Given the description of an element on the screen output the (x, y) to click on. 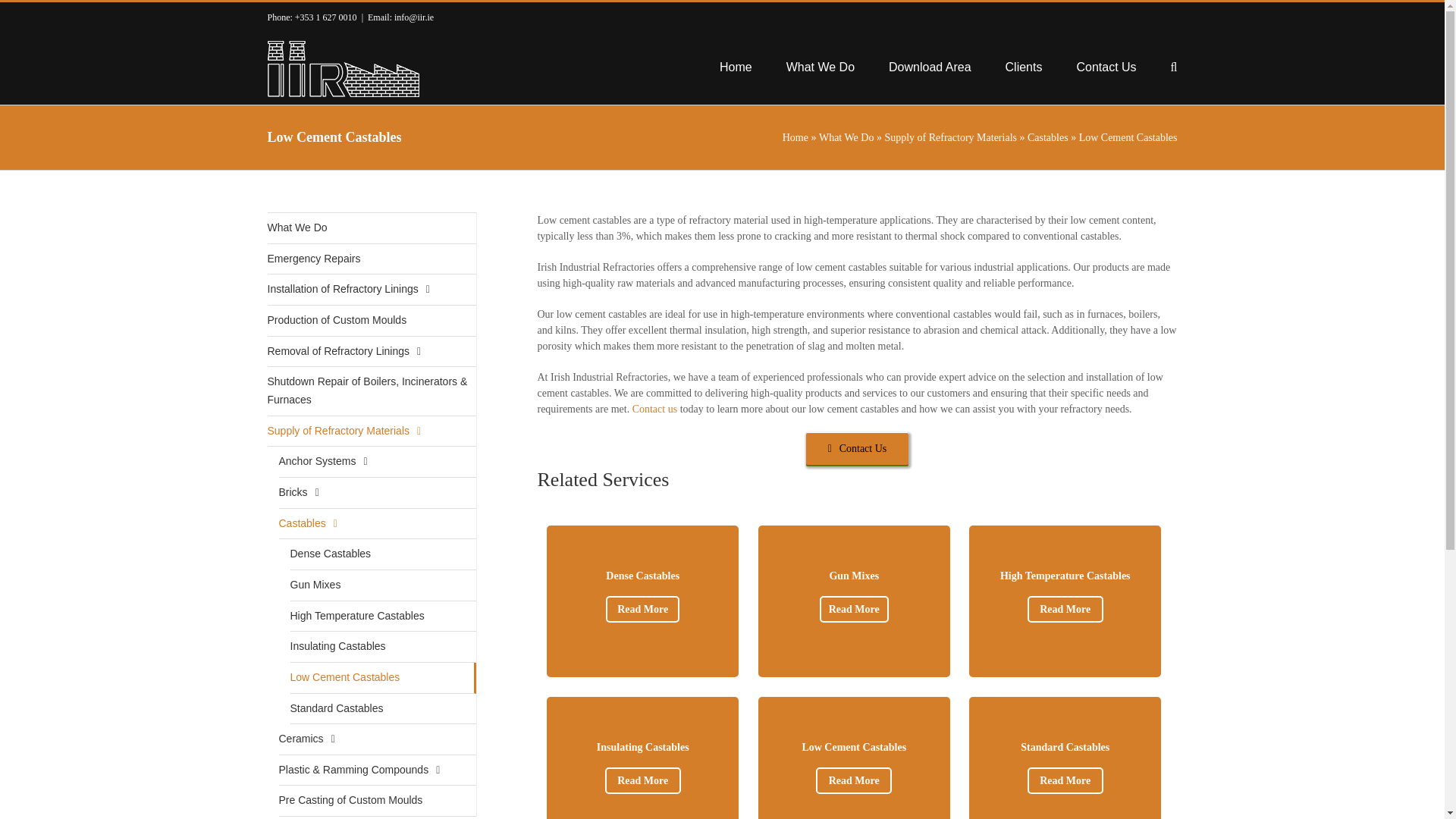
Contact Us (857, 448)
Installation of Refractory Linings (371, 289)
Emergency Repairs (371, 259)
What We Do (1064, 772)
Back to Parent Page (845, 137)
Supply of Refractory Materials (371, 228)
Contact us (949, 137)
